Given the description of an element on the screen output the (x, y) to click on. 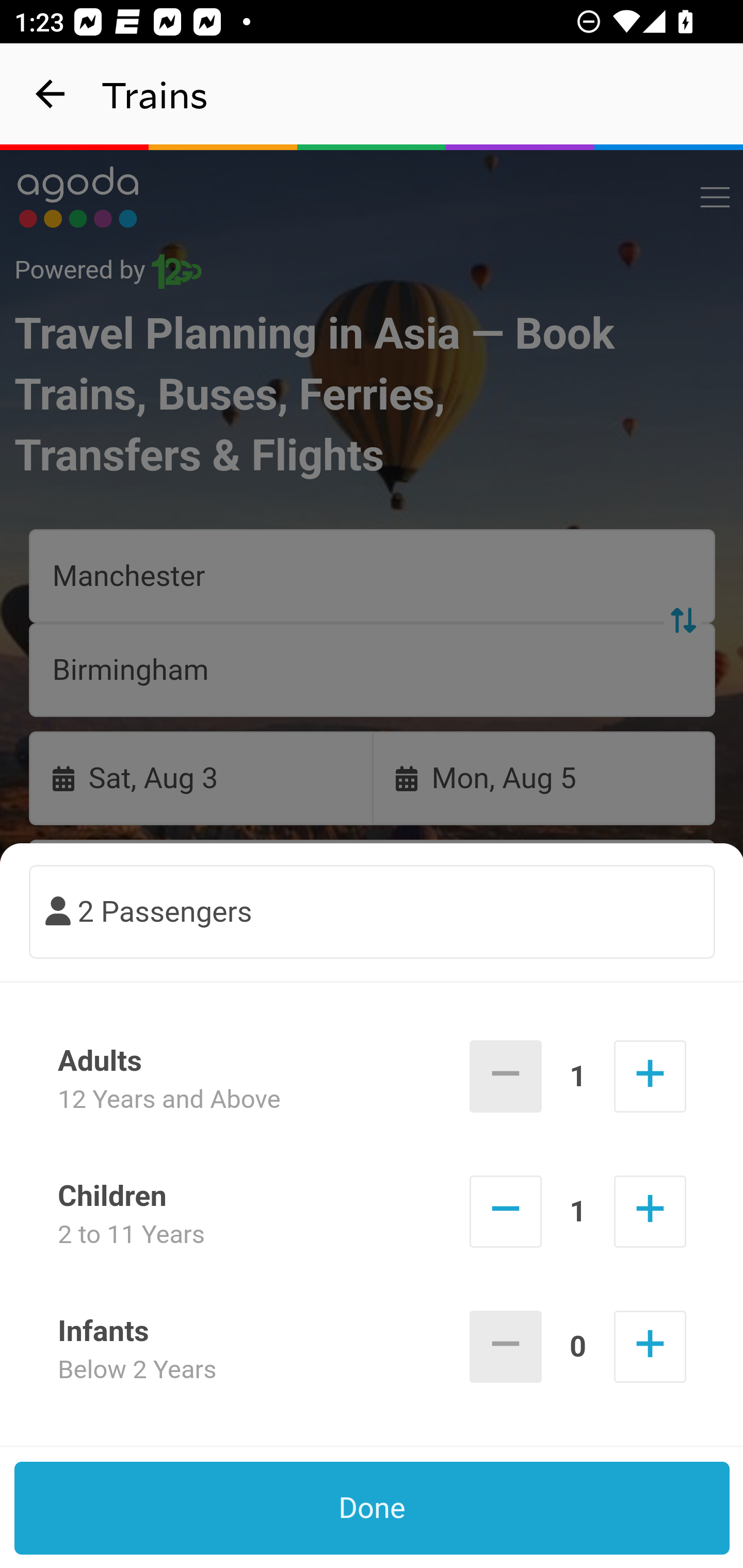
navigation_button (50, 93)
Done (372, 1508)
